Given the description of an element on the screen output the (x, y) to click on. 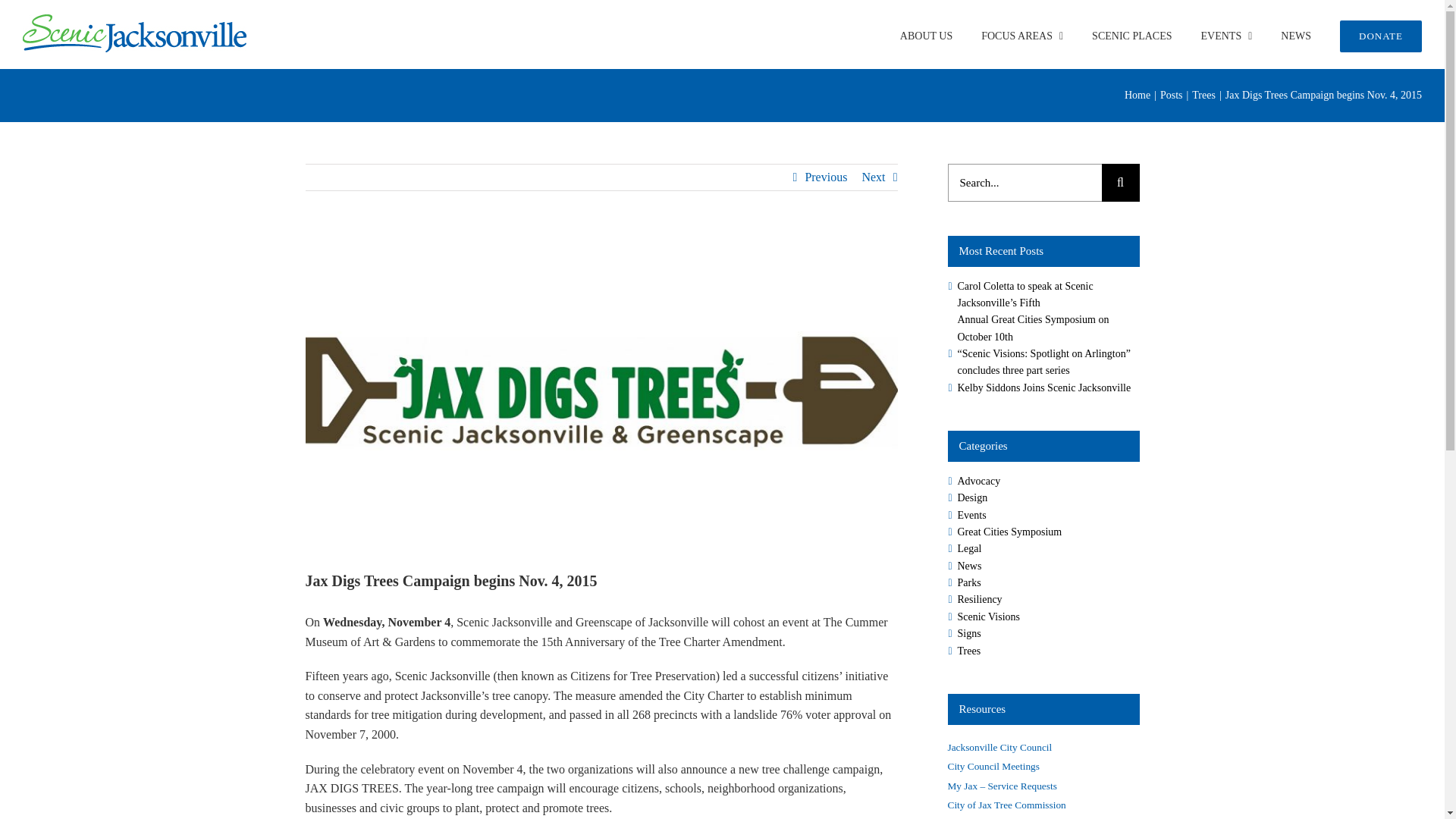
ABOUT US (925, 35)
FOCUS AREAS (1021, 35)
SCENIC PLACES (1132, 35)
DONATE (1380, 35)
EVENTS (1226, 35)
